Given the description of an element on the screen output the (x, y) to click on. 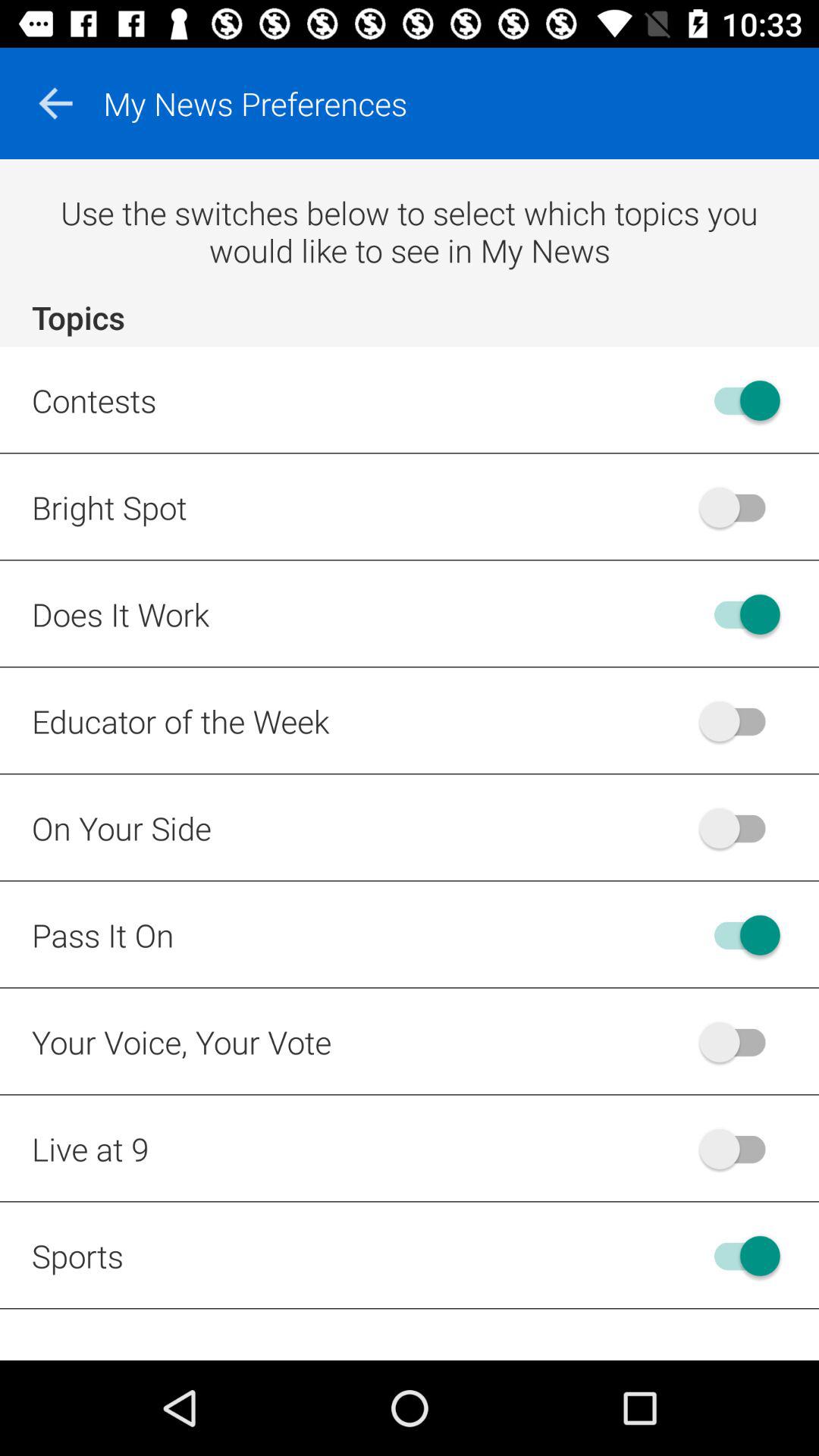
toggle sports perference (739, 1255)
